Given the description of an element on the screen output the (x, y) to click on. 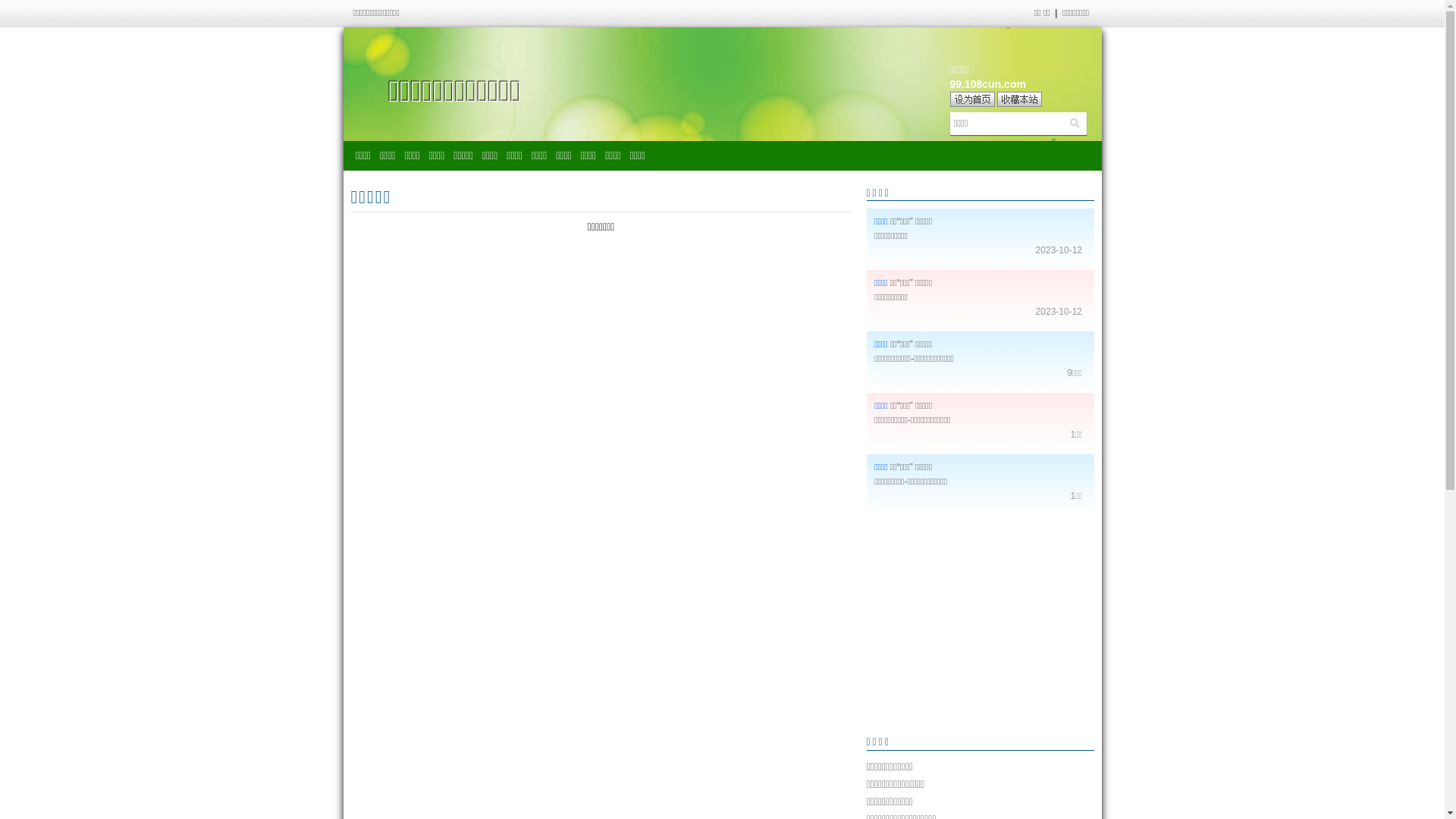
Advertisement Element type: hover (979, 624)
